Given the description of an element on the screen output the (x, y) to click on. 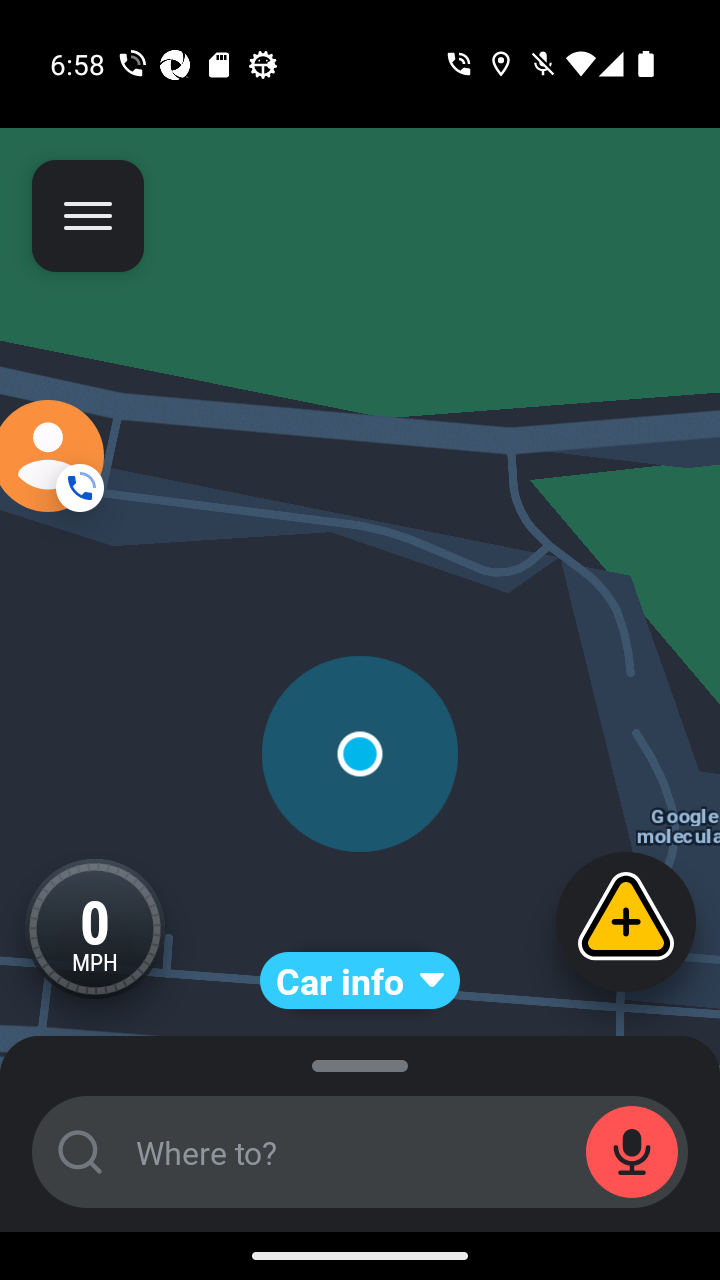
Car info (359, 980)
SUGGESTIONS_SHEET_DRAG_HANDLE (359, 1061)
START_STATE_SEARCH_FIELD Where to? (359, 1151)
Big Ben Liquidation 5:33 h (360, 1260)
